Given the description of an element on the screen output the (x, y) to click on. 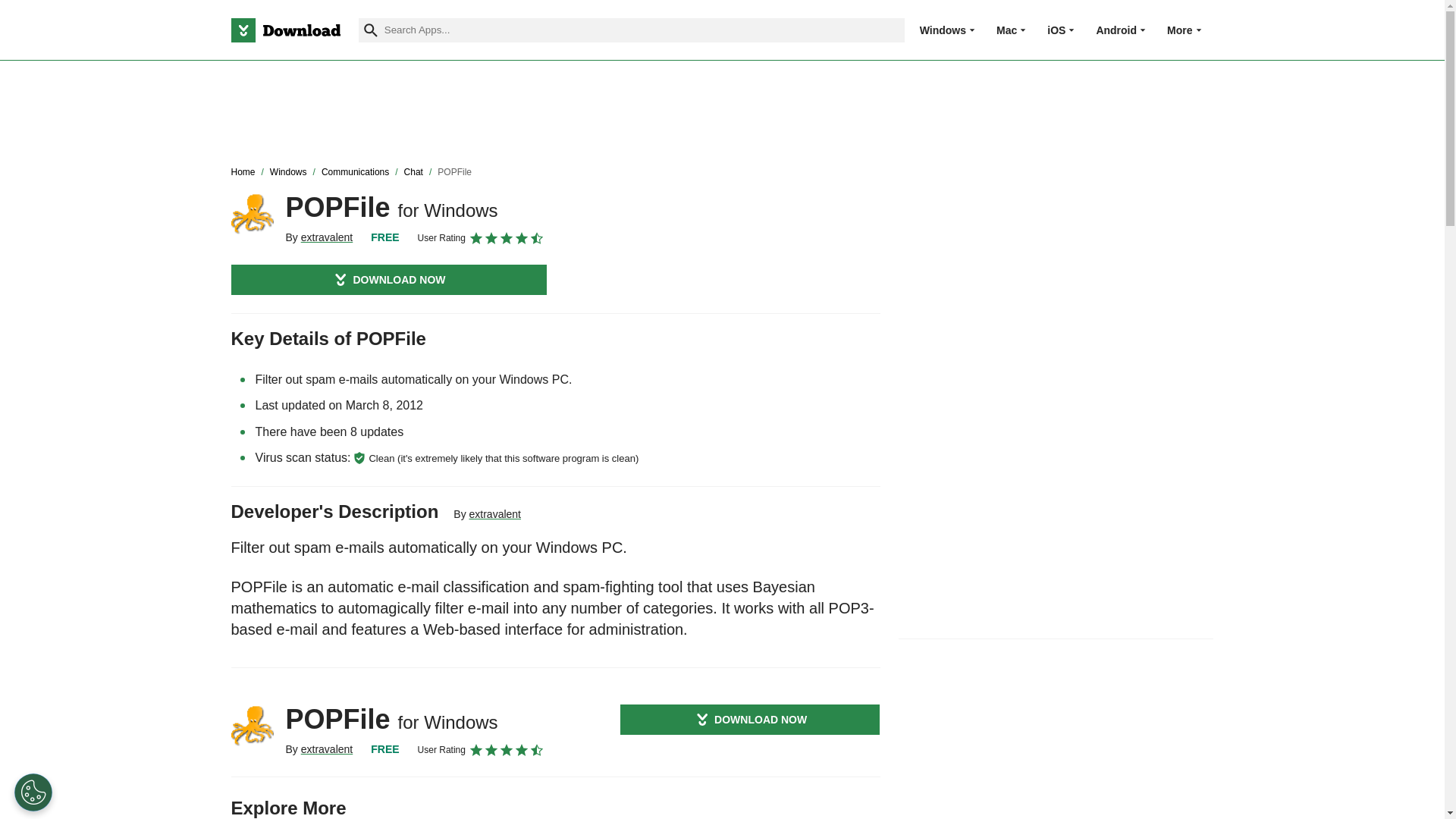
Windows (943, 29)
POPFile for Windows (251, 725)
Mac (1005, 29)
POPFile for Windows (251, 213)
